Given the description of an element on the screen output the (x, y) to click on. 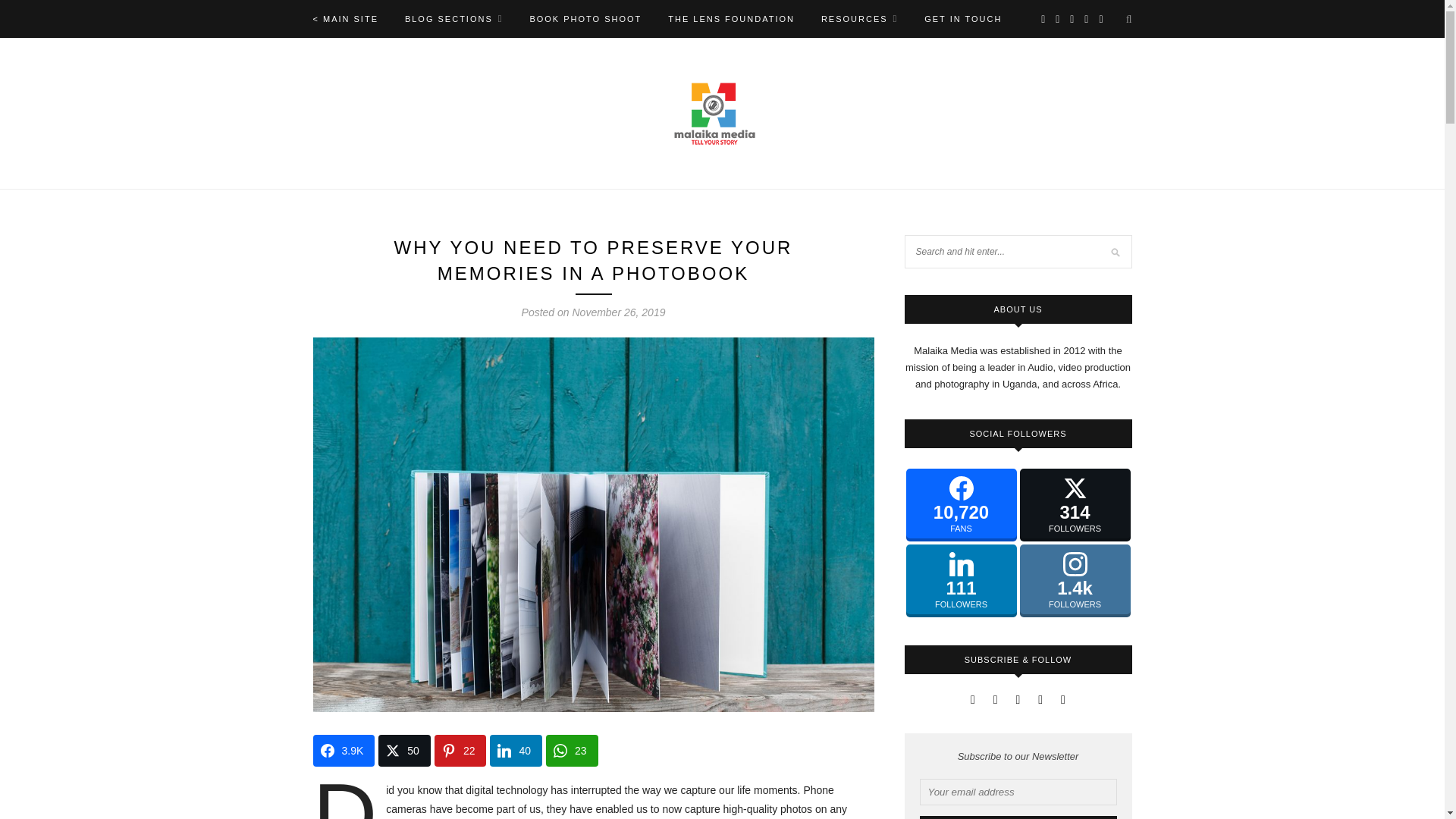
THE LENS FOUNDATION (731, 18)
Share on Twitter (404, 750)
3.9K (343, 750)
BLOG SECTIONS (453, 18)
50 (404, 750)
Subscribe (1017, 817)
Share on Pinterest (459, 750)
Share on WhatsApp (572, 750)
BOOK PHOTO SHOOT (585, 18)
GET IN TOUCH (962, 18)
RESOURCES (859, 18)
Share on LinkedIn (515, 750)
Share on Facebook (343, 750)
